Given the description of an element on the screen output the (x, y) to click on. 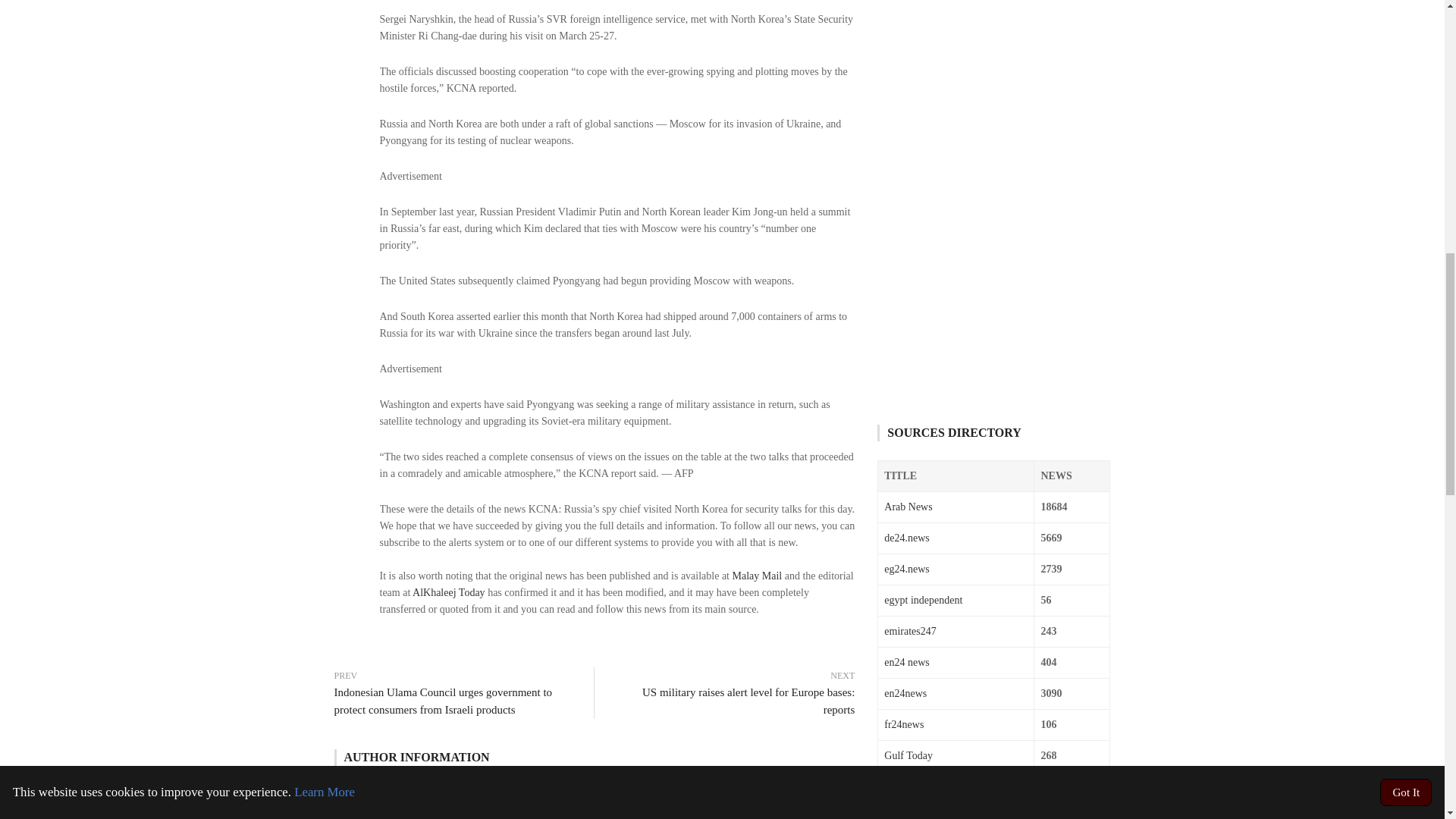
Joshua Kelly (444, 792)
Malay Mail (757, 575)
US military raises alert level for Europe bases: reports (732, 701)
AlKhaleej Today (448, 592)
